Given the description of an element on the screen output the (x, y) to click on. 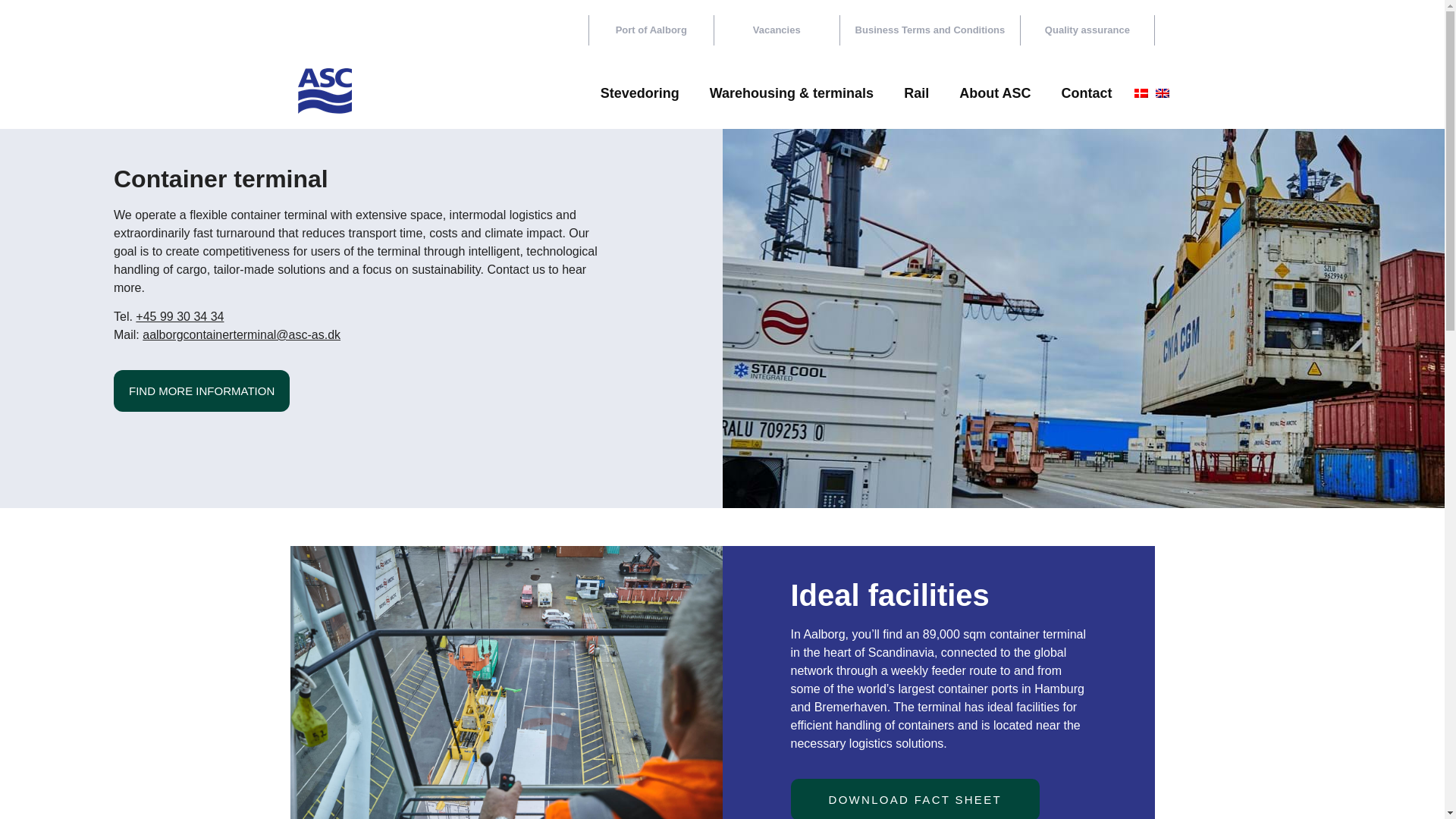
Rail (915, 93)
Business Terms and Conditions (931, 30)
Contact (1085, 93)
Port of Aalborg (651, 30)
FIND MORE INFORMATION (201, 390)
About ASC (994, 93)
Stevedoring (639, 93)
Quality assurance (1087, 30)
Vacancies (776, 30)
DOWNLOAD FACT SHEET (914, 798)
